Given the description of an element on the screen output the (x, y) to click on. 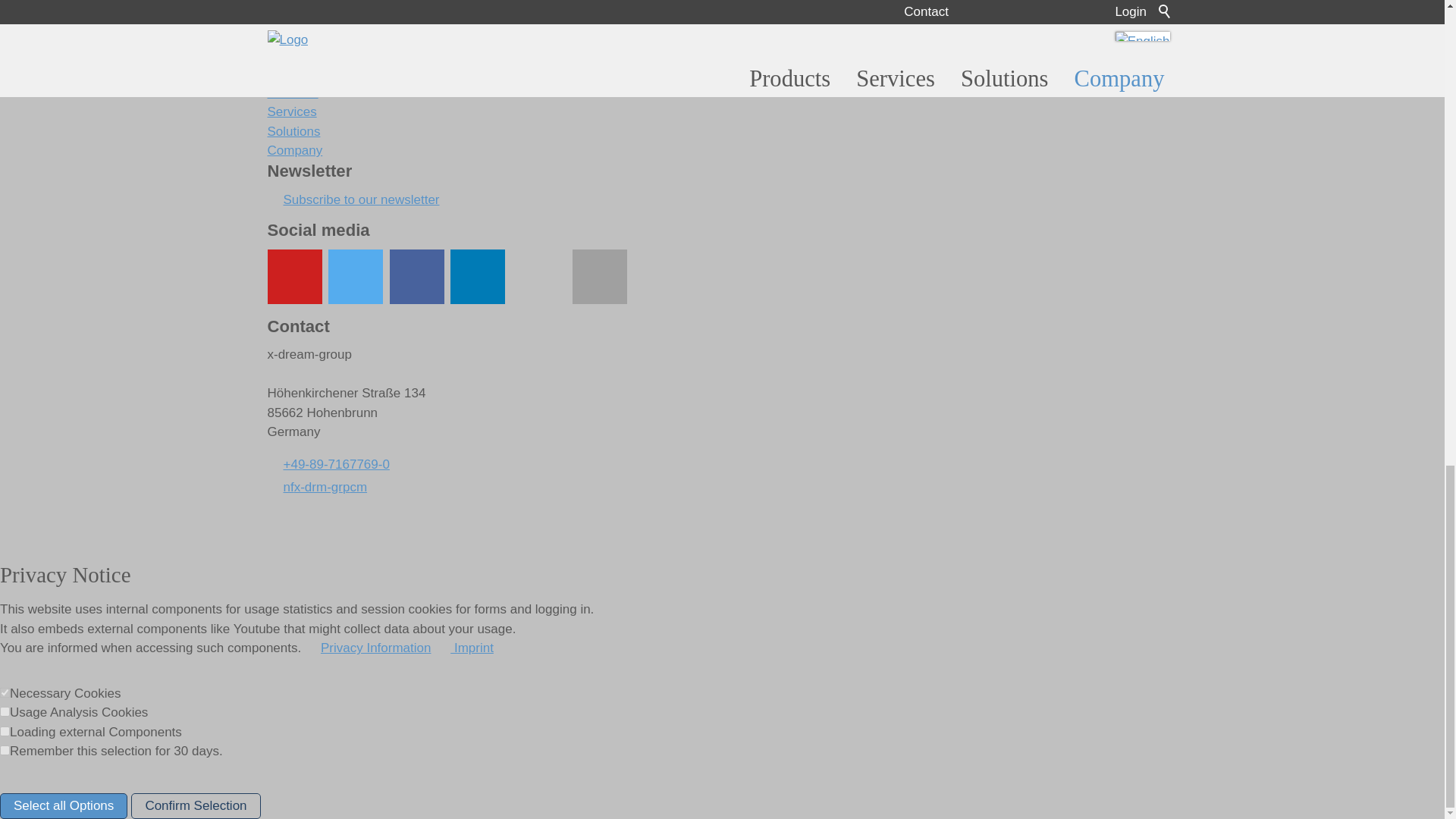
Wir bei Xing (538, 276)
Follow us on Twitter (355, 276)
Kontaktformular (599, 276)
Follow us on Facebook (417, 276)
1 (5, 692)
1 (5, 711)
YouTube (293, 276)
1 (5, 731)
Privacy Information (367, 647)
LinkedIn (477, 276)
Email Address (316, 486)
1 (5, 750)
